Given the description of an element on the screen output the (x, y) to click on. 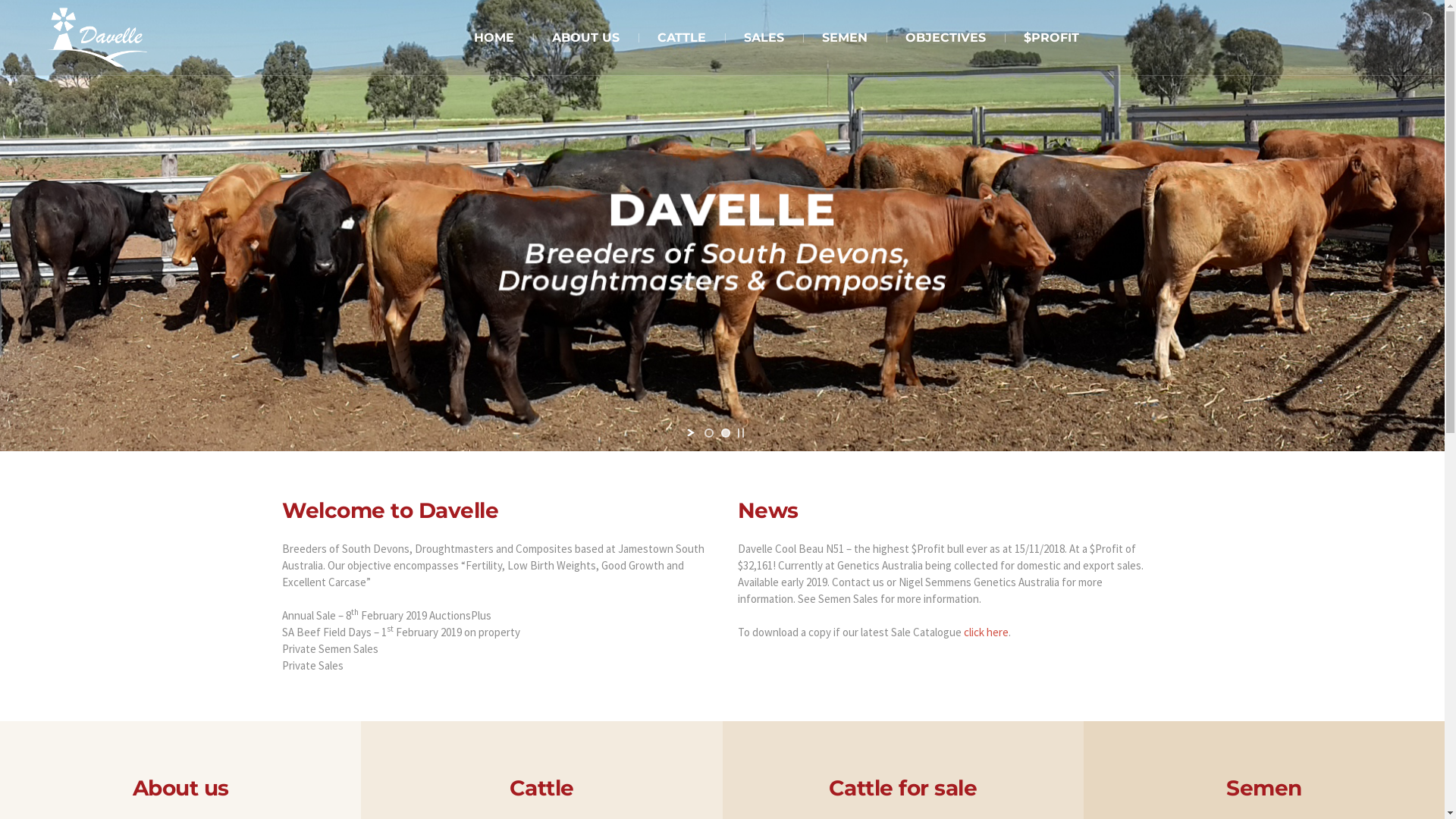
SEMEN Element type: text (843, 37)
click here Element type: text (985, 631)
Cattle for sale Element type: text (902, 787)
HOME Element type: text (494, 37)
$PROFIT Element type: text (1050, 37)
OBJECTIVES Element type: text (944, 37)
Semen Element type: text (1264, 787)
Cattle Element type: text (541, 787)
ABOUT US Element type: text (584, 37)
CATTLE Element type: text (681, 37)
About us Element type: text (180, 787)
SALES Element type: text (763, 37)
